Given the description of an element on the screen output the (x, y) to click on. 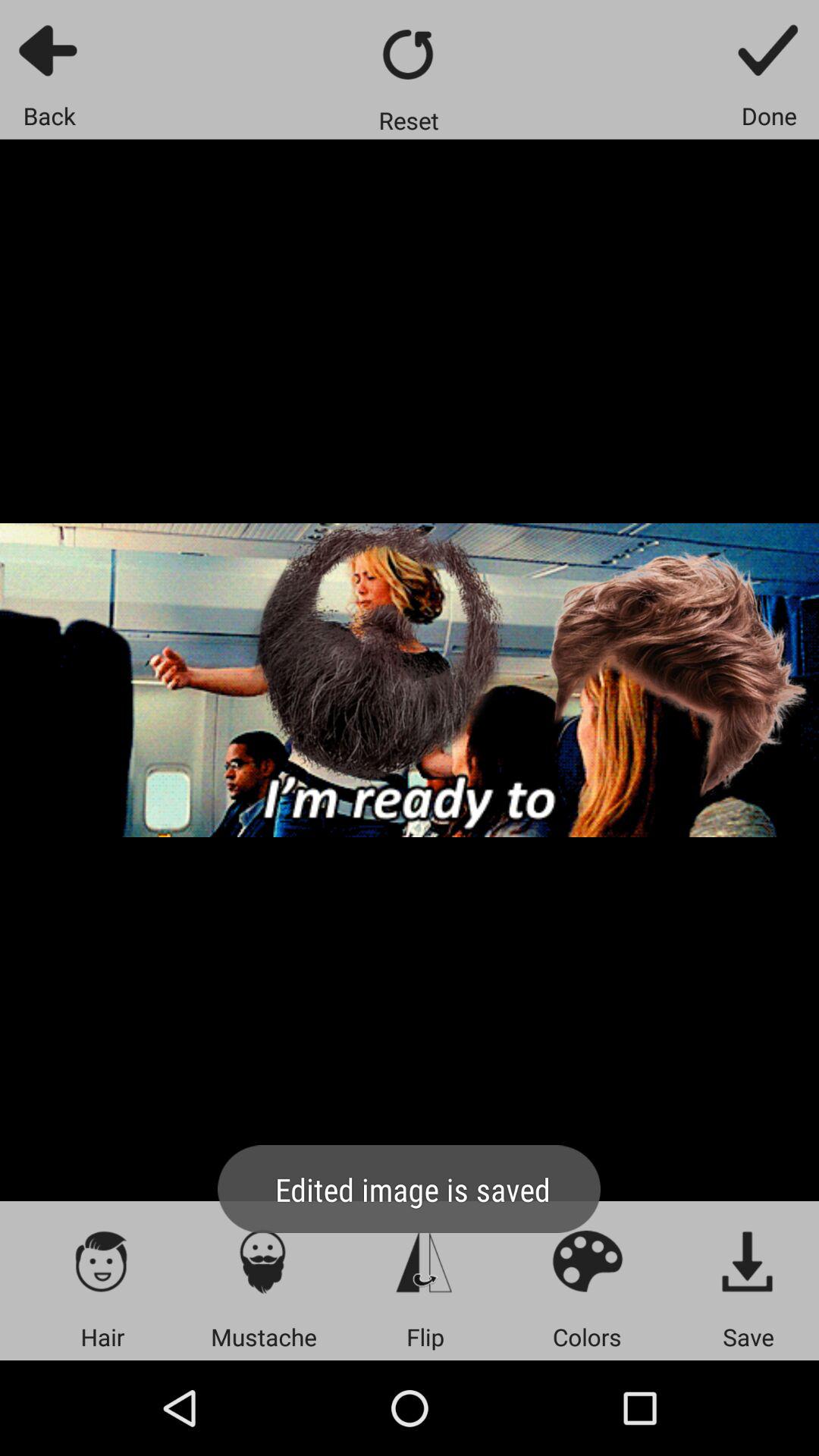
reset page (408, 54)
